Given the description of an element on the screen output the (x, y) to click on. 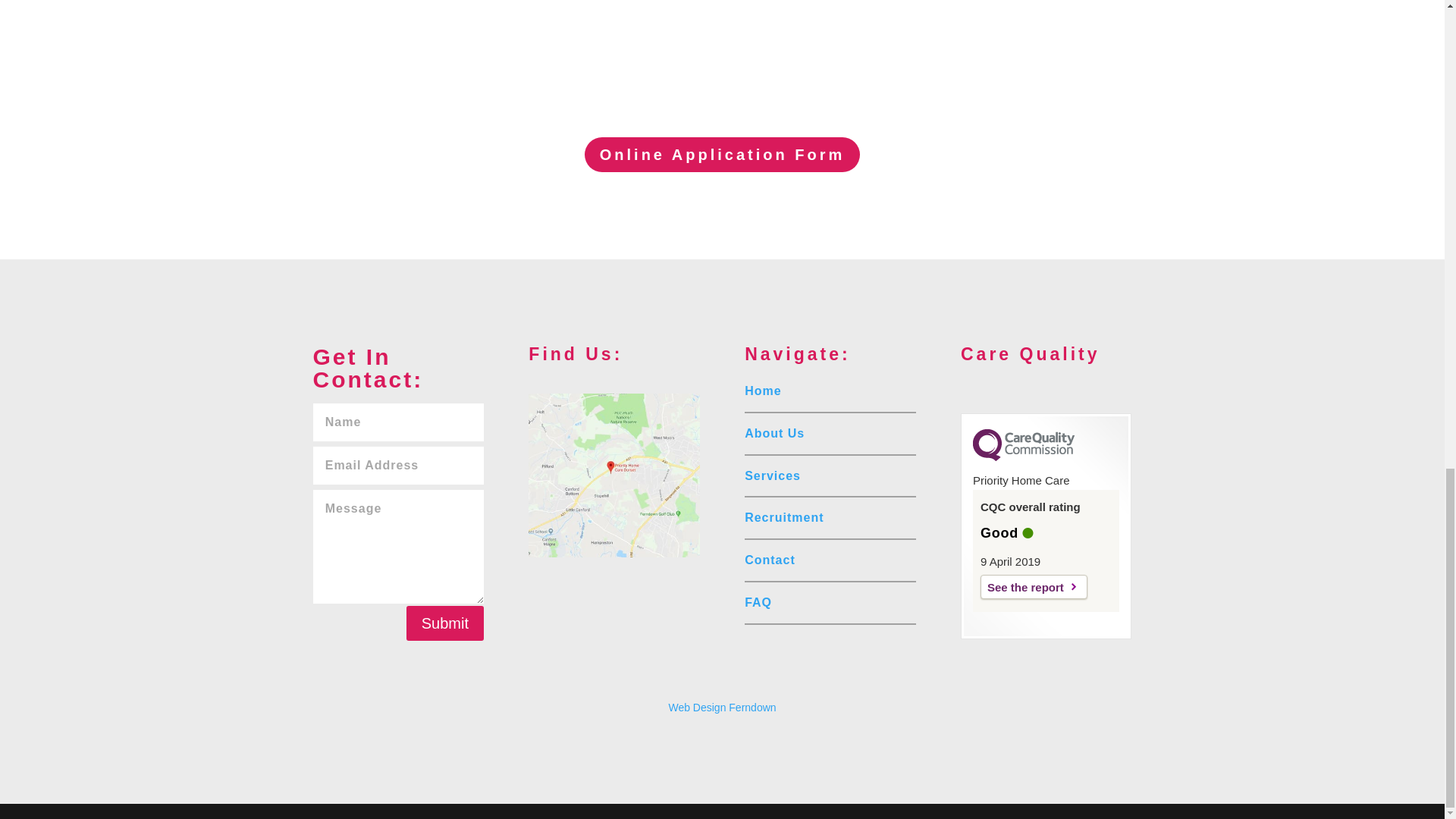
About Us (774, 432)
Online Application Form (722, 154)
Recruitment (784, 517)
Home (762, 390)
Submit (444, 623)
CQC Logo (1023, 457)
See the report (1033, 586)
FAQ (757, 602)
Contact (769, 559)
Services (772, 475)
Web Design Ferndown (722, 707)
